Given the description of an element on the screen output the (x, y) to click on. 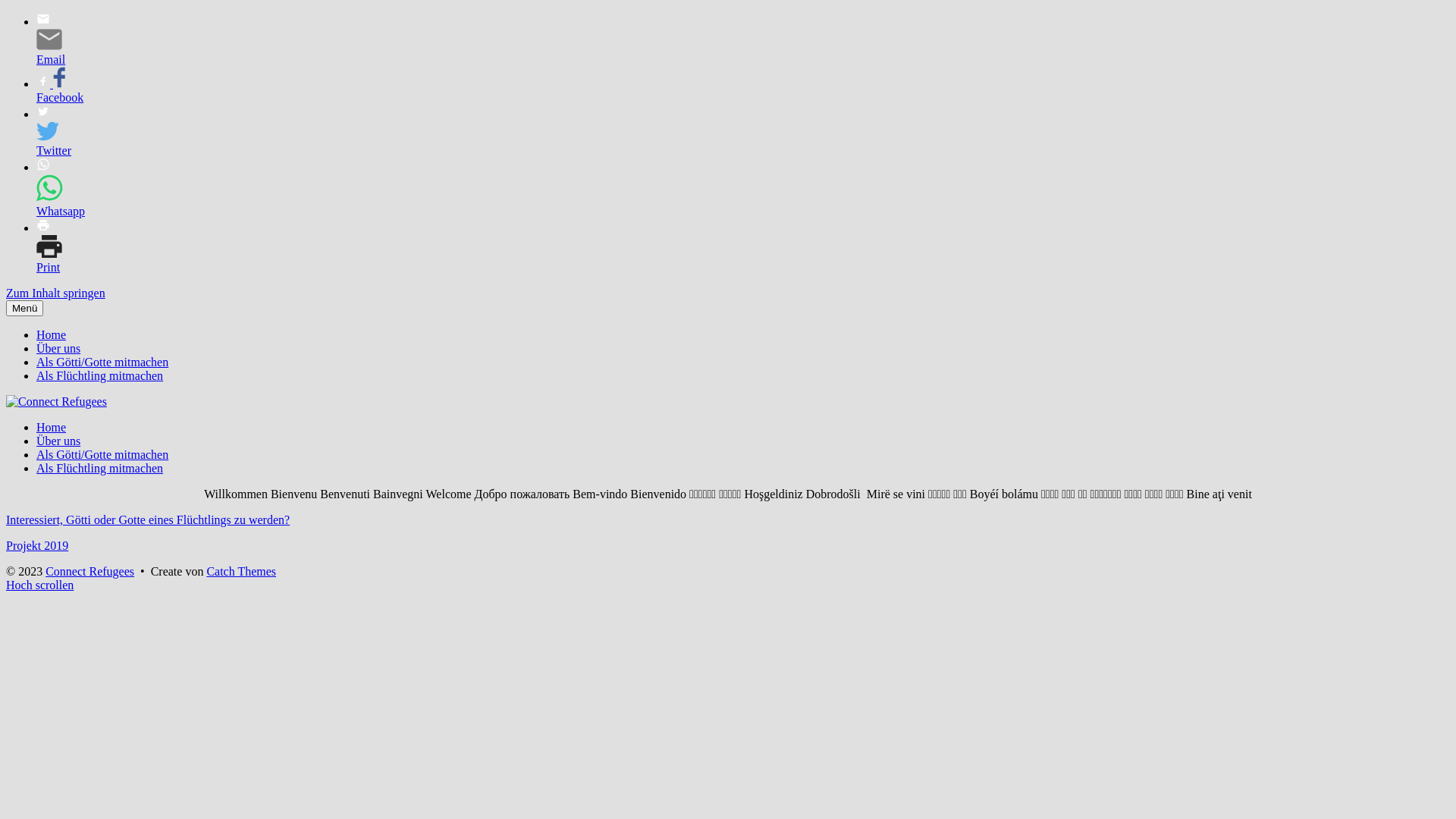
Catch Themes Element type: text (241, 570)
Print Element type: text (54, 247)
Projekt 2019 Element type: text (37, 545)
Home Element type: text (50, 426)
Facebook Element type: text (54, 90)
Connect Refugees Element type: text (89, 570)
Zum Inhalt springen Element type: text (55, 292)
Home Element type: text (50, 334)
Whatsapp Element type: text (54, 189)
Twitter Element type: text (54, 132)
Connect Refugees Element type: text (98, 437)
Email Element type: text (54, 40)
Hoch scrollen Element type: text (39, 584)
